Given the description of an element on the screen output the (x, y) to click on. 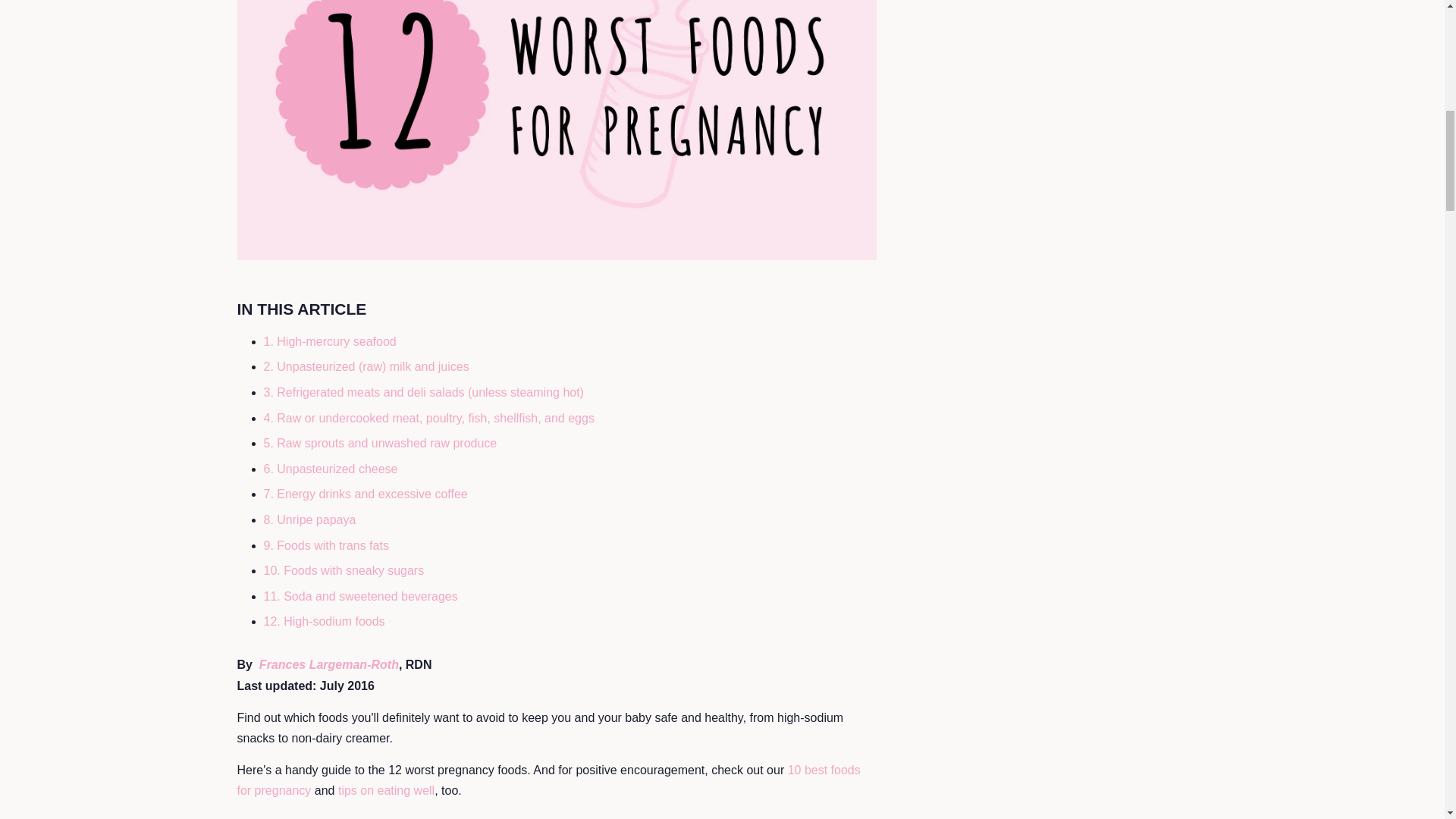
1. High-mercury seafood (329, 341)
7. Energy drinks and excessive coffee (365, 493)
6. Unpasteurized cheese (330, 468)
9. Foods with trans fats (325, 545)
10. Foods with sneaky sugars (344, 570)
8. Unripe papaya (309, 519)
5. Raw sprouts and unwashed raw produce (380, 442)
